Given the description of an element on the screen output the (x, y) to click on. 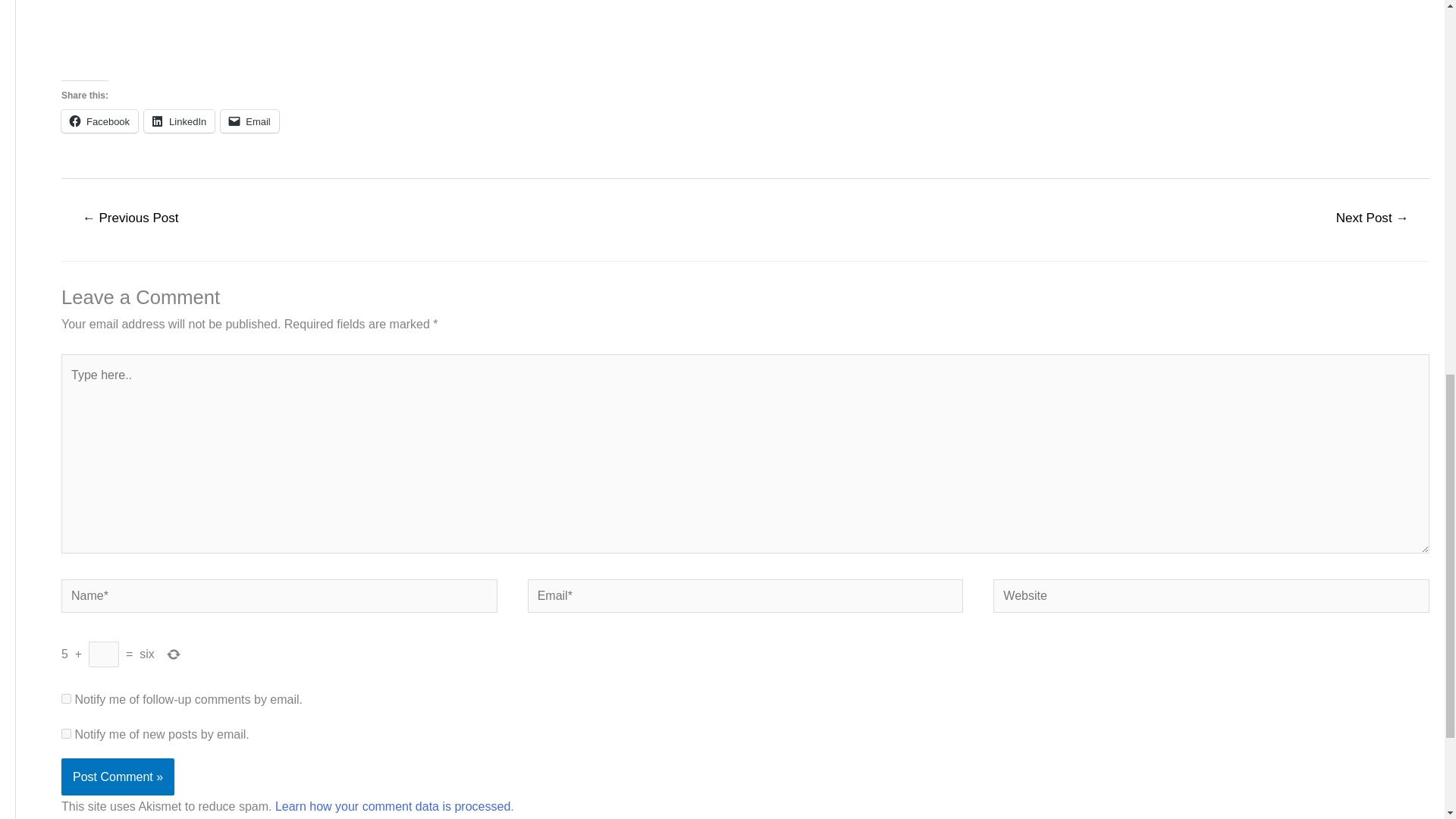
Click to share on Facebook (99, 120)
Click to share on LinkedIn (179, 120)
Click to email a link to a friend (250, 120)
subscribe (66, 698)
subscribe (66, 733)
